Given the description of an element on the screen output the (x, y) to click on. 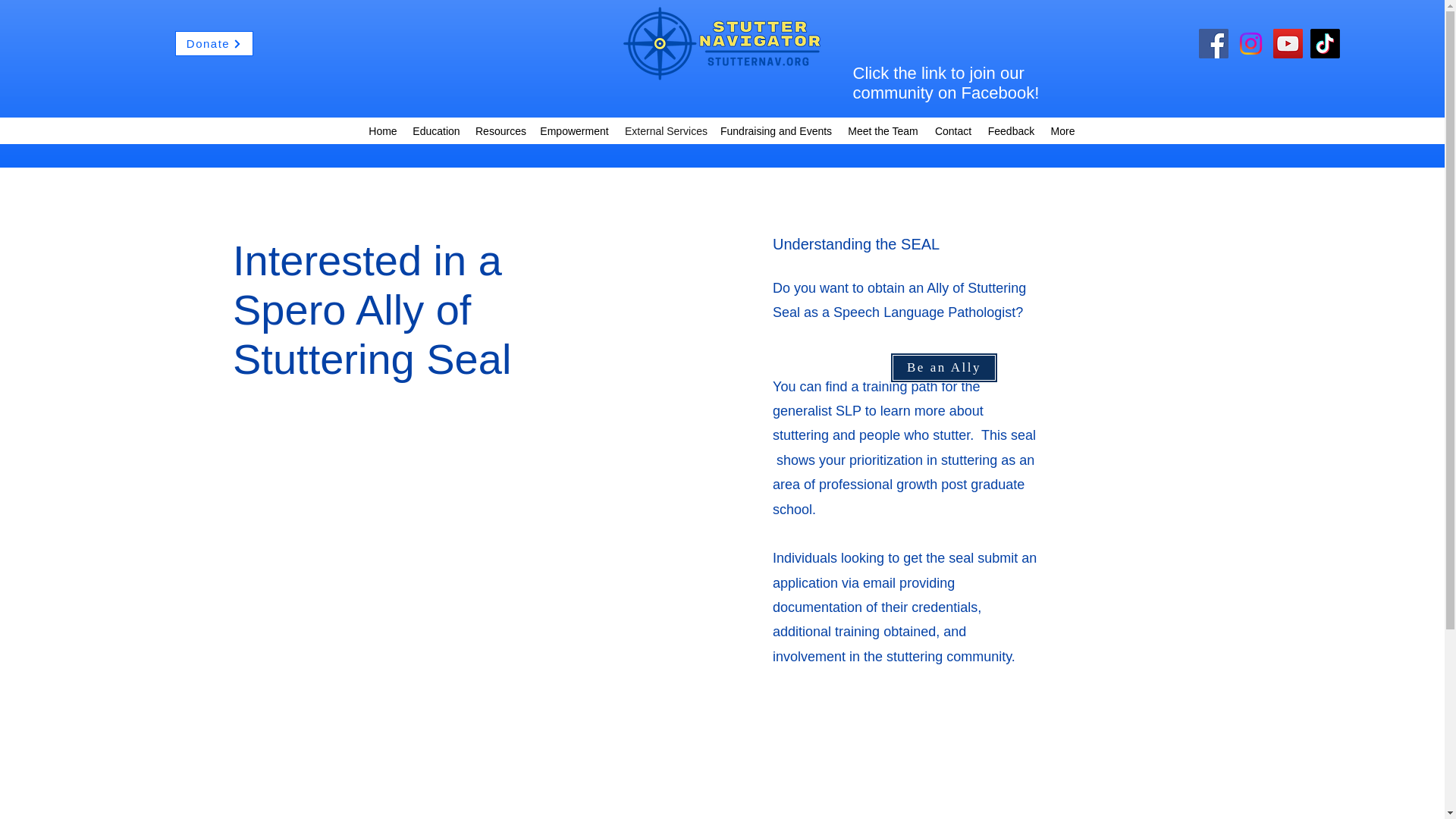
Home (382, 130)
Fundraising and Events (776, 130)
Be an Ally (943, 367)
External Services (665, 130)
Education (435, 130)
Empowerment (574, 130)
Donate (213, 43)
Resources (499, 130)
Meet the Team (883, 130)
Contact (952, 130)
Feedback (1010, 130)
